Given the description of an element on the screen output the (x, y) to click on. 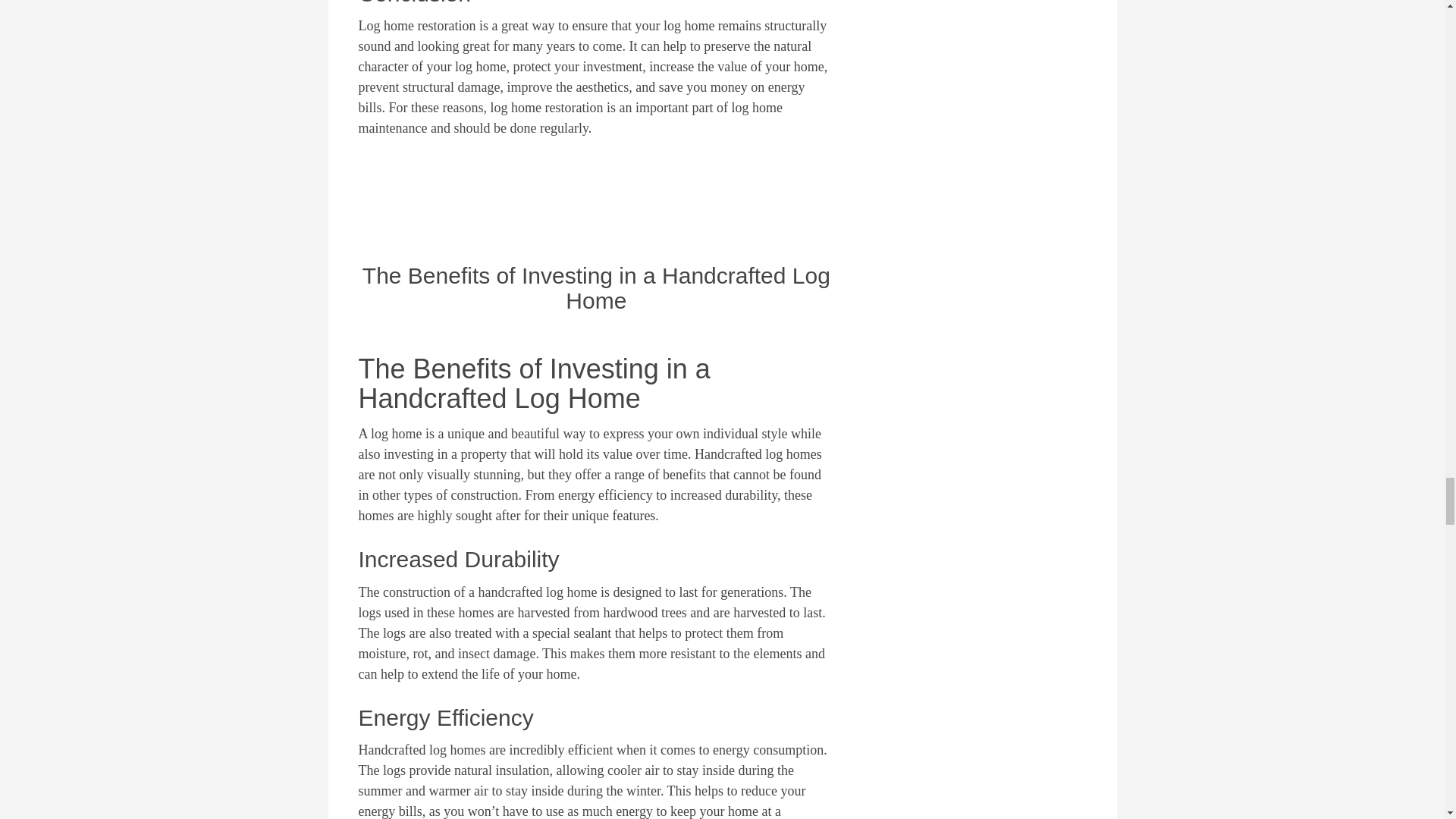
The Benefits of Investing in a Handcrafted Log Home (595, 287)
